Given the description of an element on the screen output the (x, y) to click on. 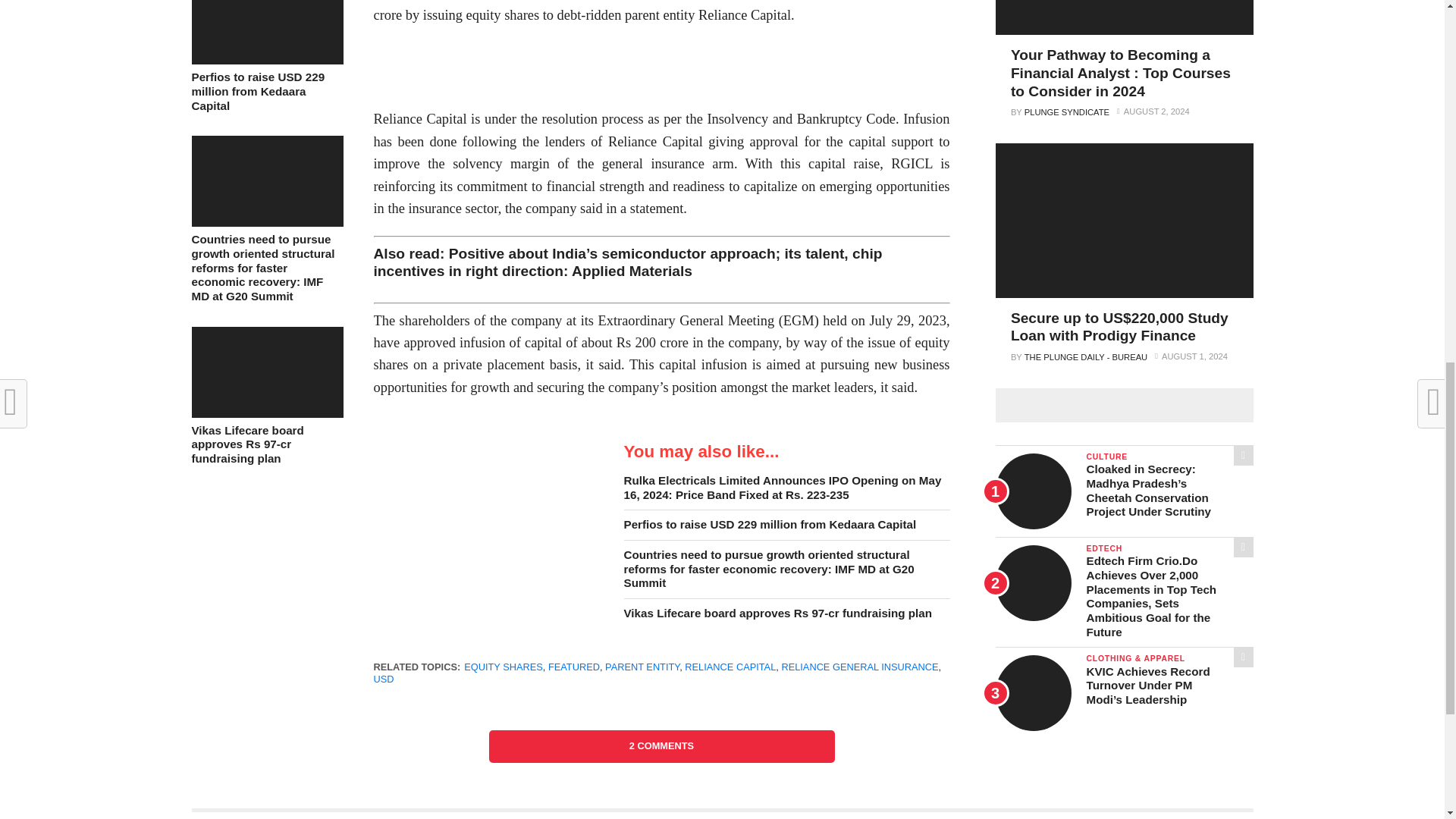
Vikas Lifecare board approves Rs 97-cr fundraising plan (266, 413)
Vikas Lifecare board approves Rs 97-cr fundraising plan (266, 445)
Perfios to raise USD 229 million from Kedaara Capital (266, 91)
Perfios to raise USD 229 million from Kedaara Capital (266, 60)
